Given the description of an element on the screen output the (x, y) to click on. 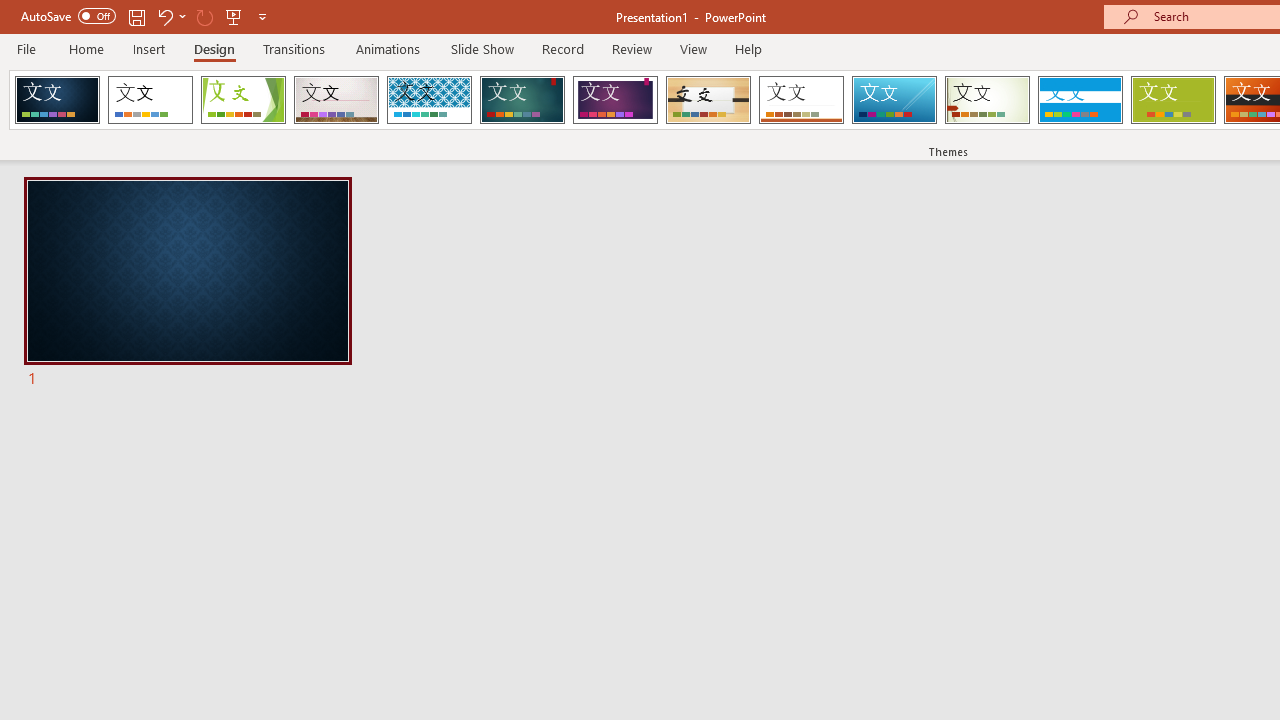
Gallery (336, 100)
Ion Boardroom Loading Preview... (615, 100)
